Given the description of an element on the screen output the (x, y) to click on. 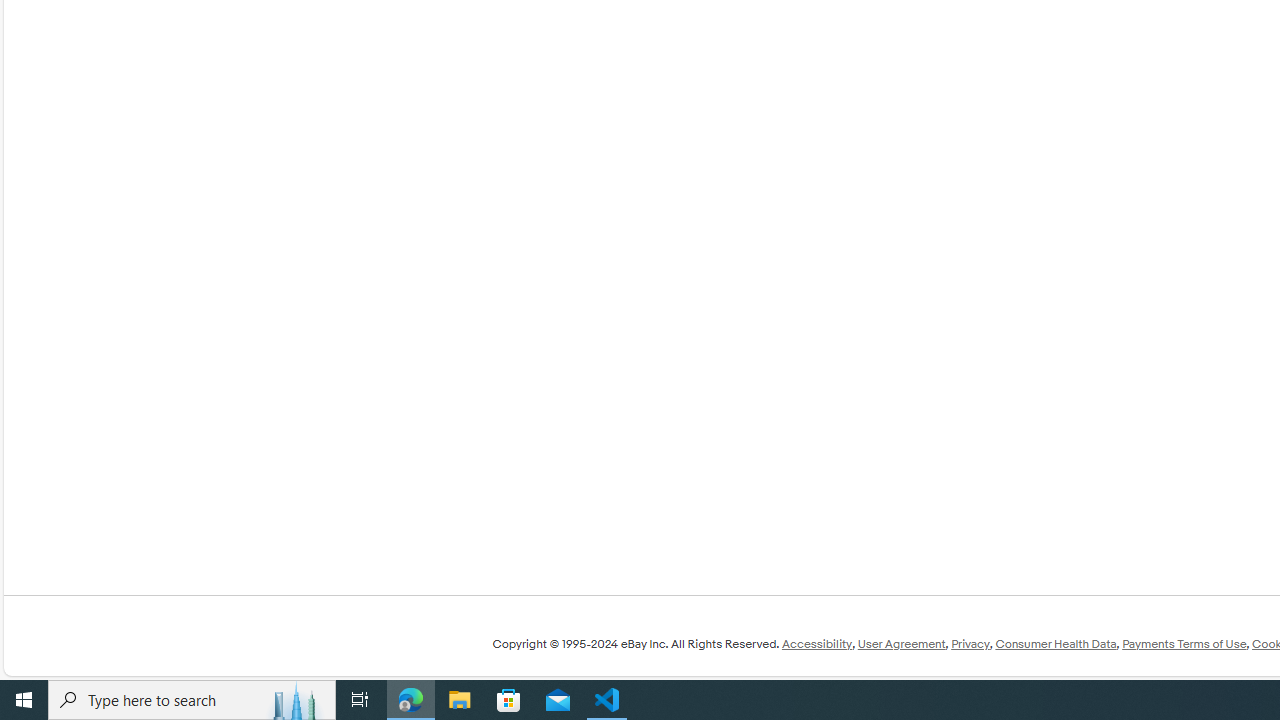
Consumer Health Data (1055, 644)
Accessibility (816, 644)
User Agreement (901, 644)
Payments Terms of Use (1184, 644)
